Given the description of an element on the screen output the (x, y) to click on. 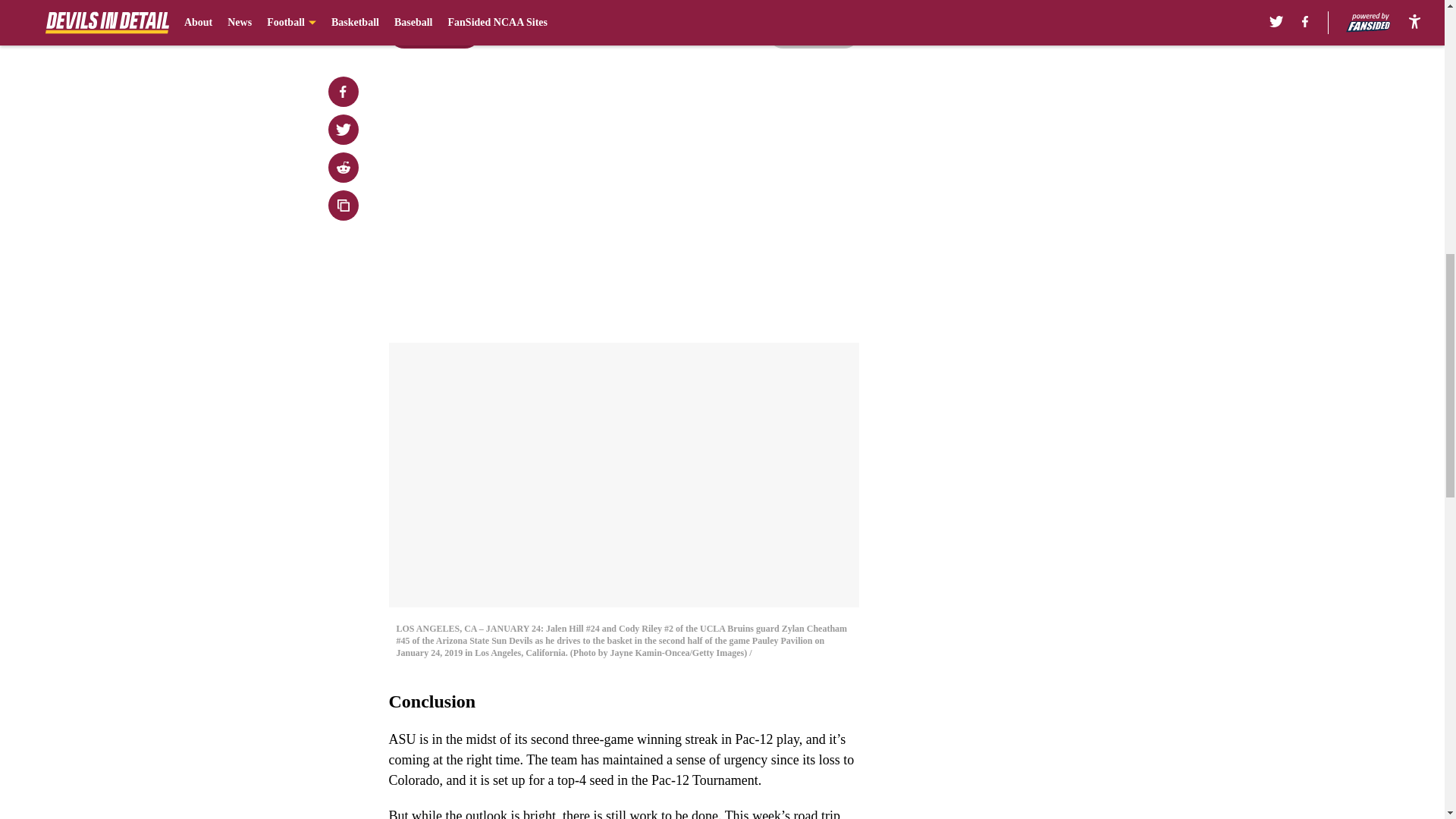
Next (813, 33)
Prev (433, 33)
